Given the description of an element on the screen output the (x, y) to click on. 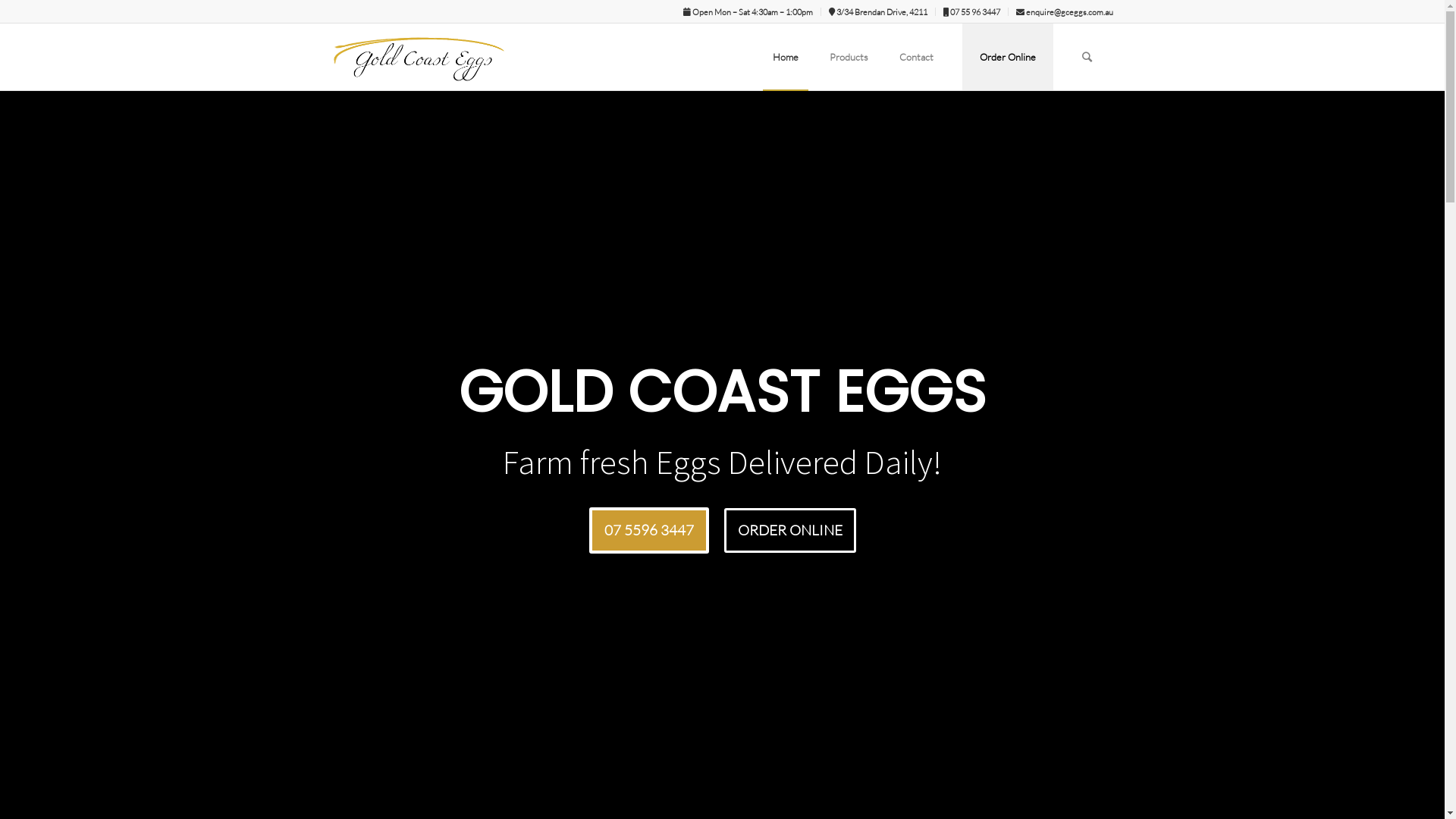
3/34 Brendan Drive, 4211 Element type: text (877, 11)
07 5596 3447 Element type: text (648, 530)
Home Element type: text (785, 56)
Order Online Element type: text (1006, 56)
Contact Element type: text (915, 56)
07 55 96 3447 Element type: text (971, 11)
Products Element type: text (848, 56)
enquire@gceggs.com.au Element type: text (1064, 11)
ORDER ONLINE Element type: text (789, 530)
